Given the description of an element on the screen output the (x, y) to click on. 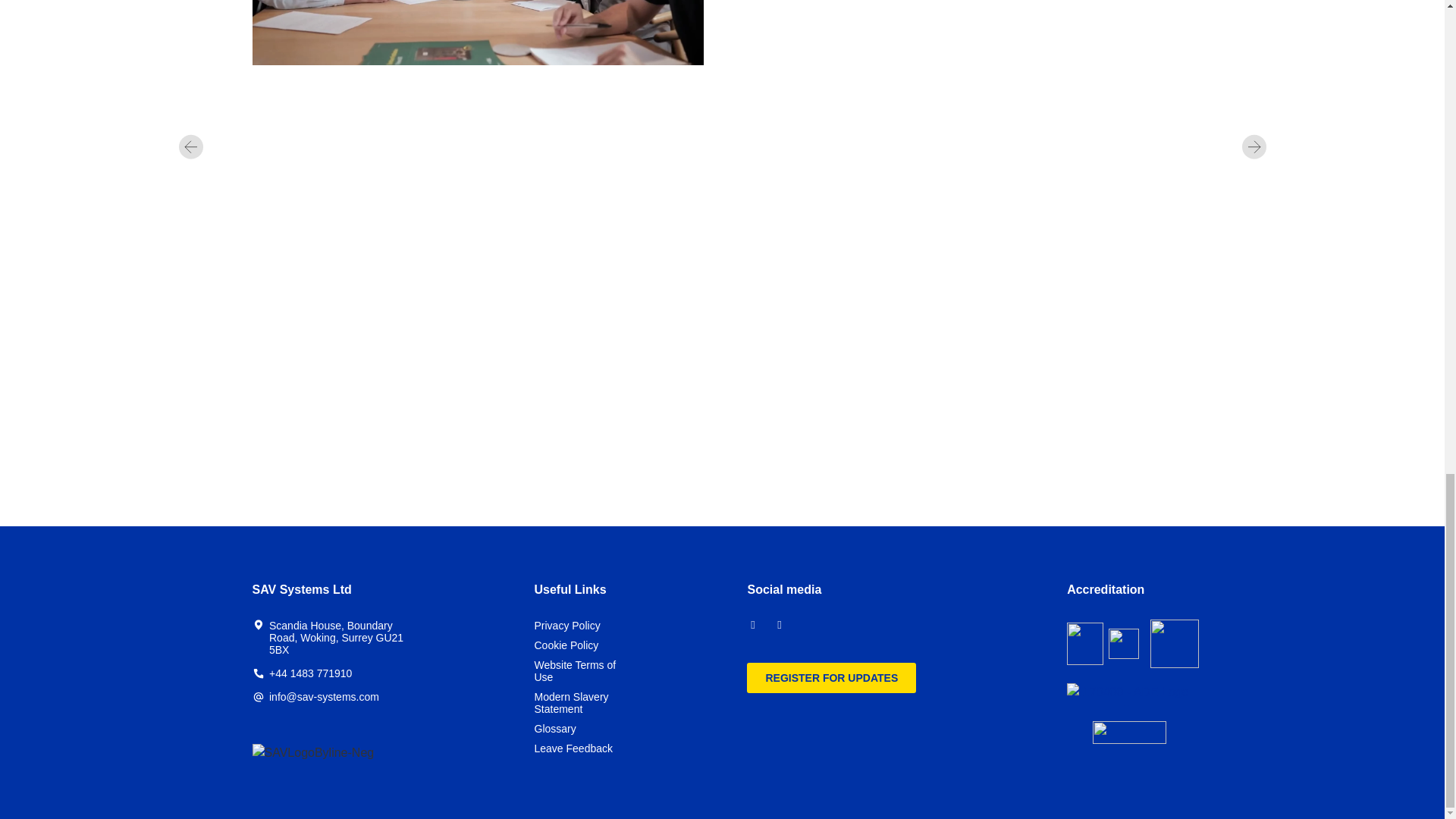
SAVLogoByline-Neg (312, 752)
